Given the description of an element on the screen output the (x, y) to click on. 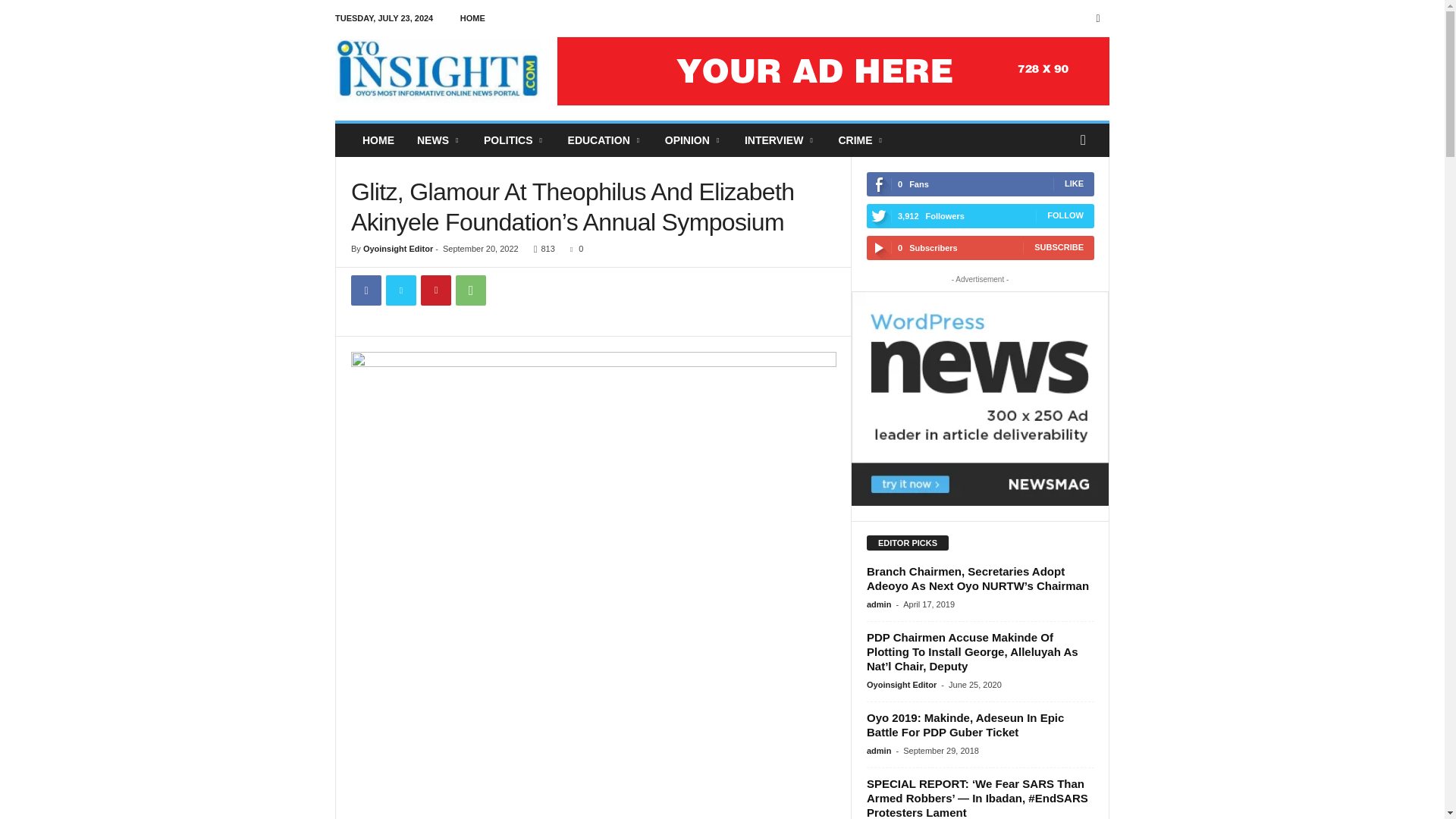
NEWS (438, 140)
HOME (472, 17)
Facebook (1097, 18)
Oyoinsight (437, 70)
HOME (378, 140)
POLITICS (513, 140)
